Given the description of an element on the screen output the (x, y) to click on. 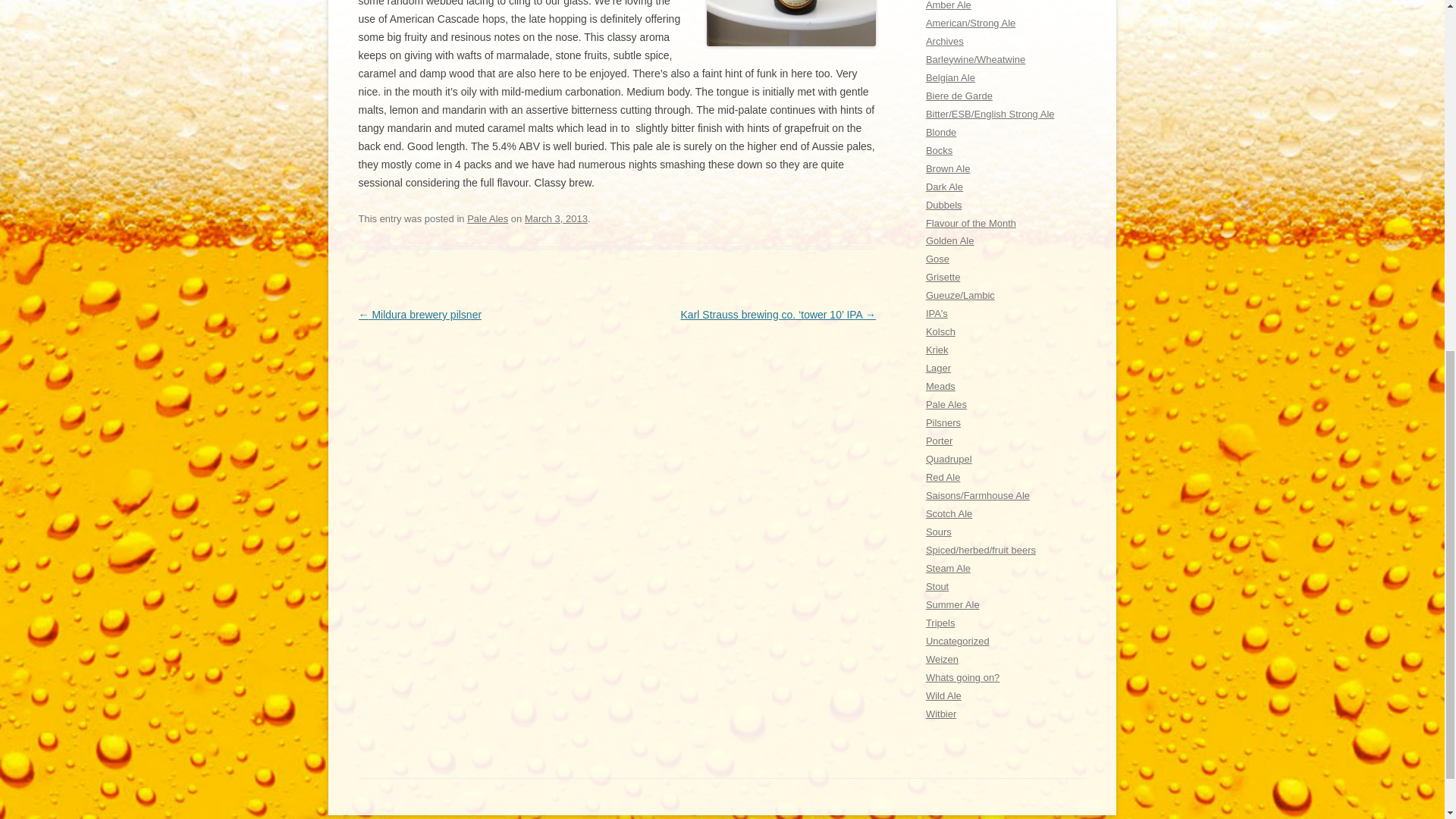
Porter (939, 440)
Flavour of the Month (971, 222)
Dark Ale (944, 186)
Archives (944, 41)
Grisette (942, 276)
Meads (940, 386)
Biere de Garde (959, 95)
Golden Ale (950, 240)
IPA's (936, 313)
March 3, 2013 (556, 218)
